Given the description of an element on the screen output the (x, y) to click on. 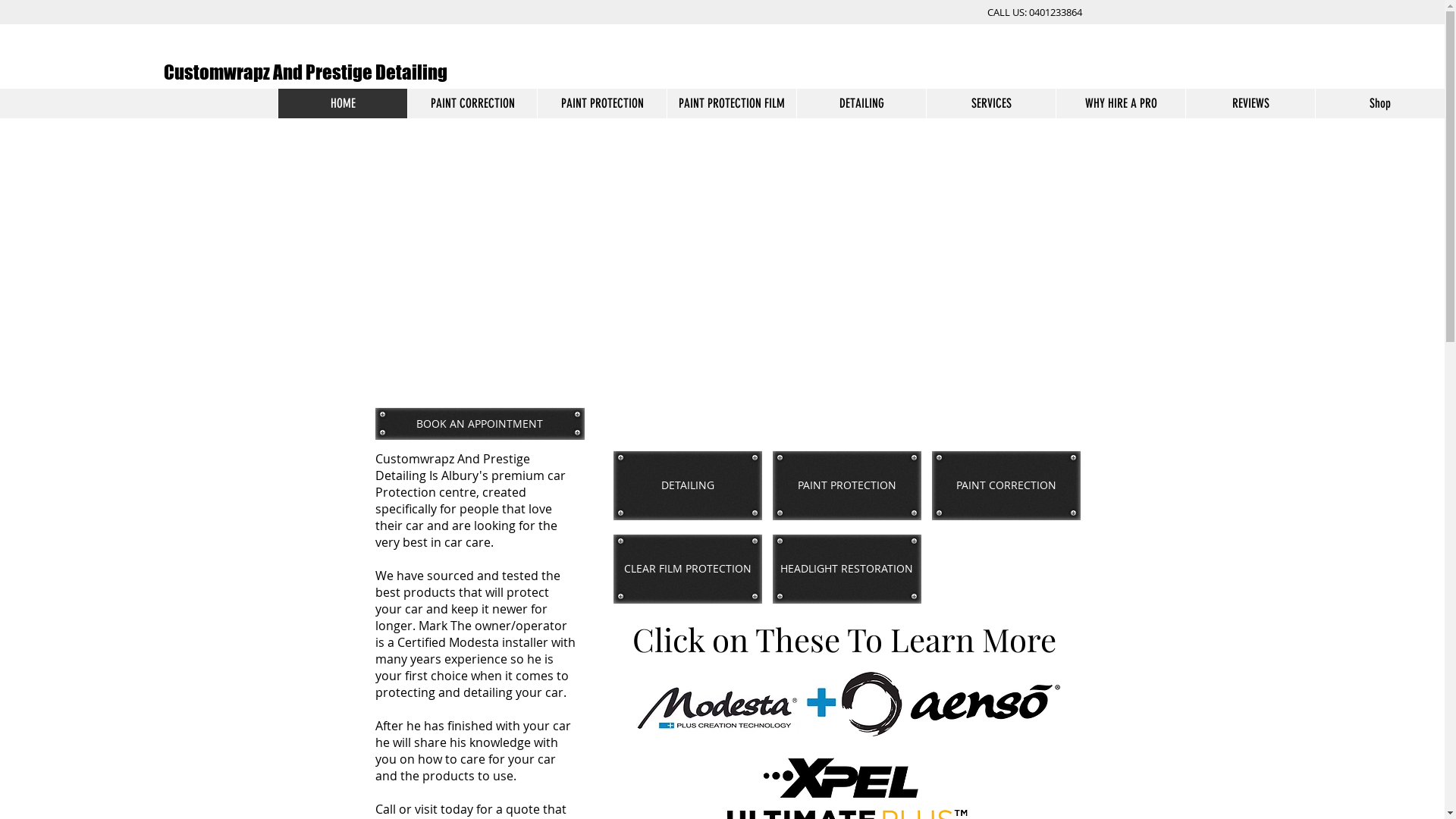
HOME Element type: text (342, 103)
SERVICES Element type: text (990, 103)
PAINT CORRECTION Element type: text (1005, 485)
PAINT PROTECTION Element type: text (845, 485)
WHY HIRE A PRO Element type: text (1120, 103)
PAINT CORRECTION Element type: text (471, 103)
PAINT PROTECTION Element type: text (601, 103)
BOOK AN APPOINTMENT Element type: text (478, 423)
DETAILING Element type: text (686, 485)
DETAILING Element type: text (860, 103)
             Customwrapz Element type: text (198, 71)
Shop Element type: text (1379, 103)
CLEAR FILM PROTECTION Element type: text (686, 568)
PAINT PROTECTION FILM Element type: text (731, 103)
HEADLIGHT RESTORATION Element type: text (845, 568)
REVIEWS Element type: text (1249, 103)
